Given the description of an element on the screen output the (x, y) to click on. 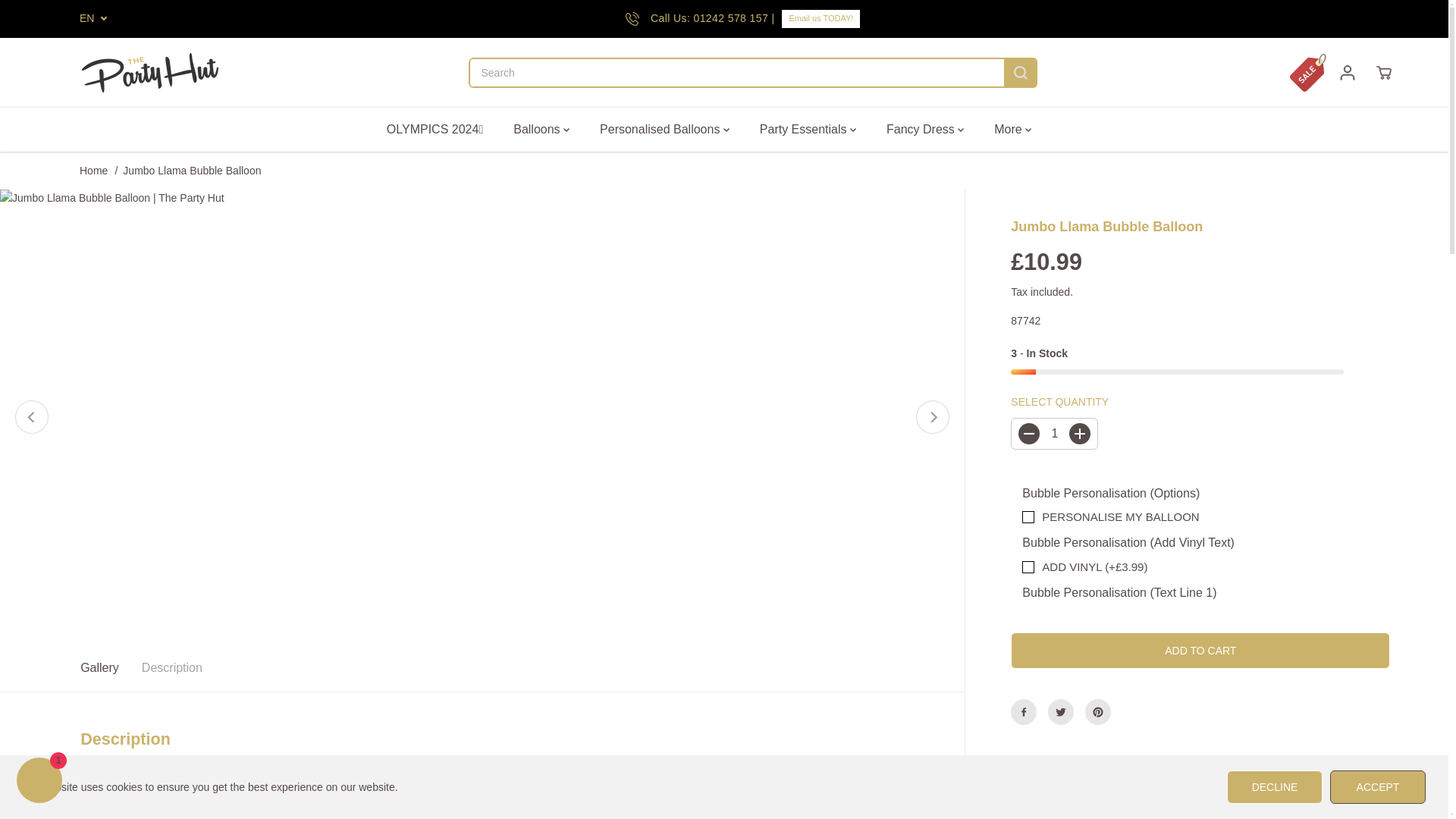
SKIP TO CONTENT (60, 18)
Twitter (1061, 711)
Log in (1347, 72)
1 (1053, 433)
Pinterest (1097, 711)
Email us TODAY! (820, 18)
Facebook (1023, 711)
Cart (1383, 72)
Home (93, 170)
